Given the description of an element on the screen output the (x, y) to click on. 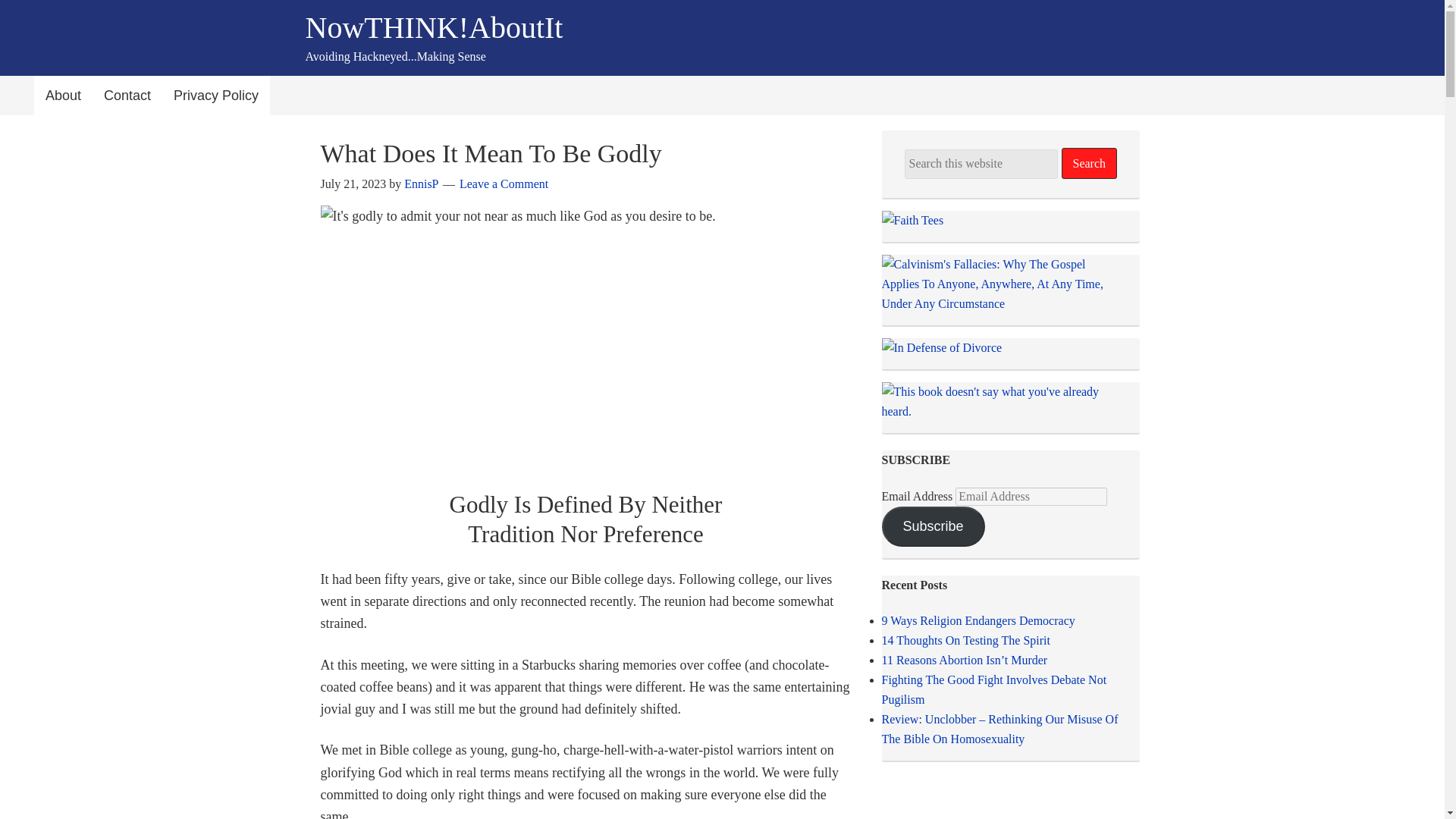
EnnisP (421, 183)
NowTHINK!AboutIt (433, 27)
Privacy Policy (215, 95)
About (63, 95)
Contact (127, 95)
Search (1089, 163)
Search (1089, 163)
Leave a Comment (504, 183)
What Does It Mean To Be Godly (490, 153)
